Given the description of an element on the screen output the (x, y) to click on. 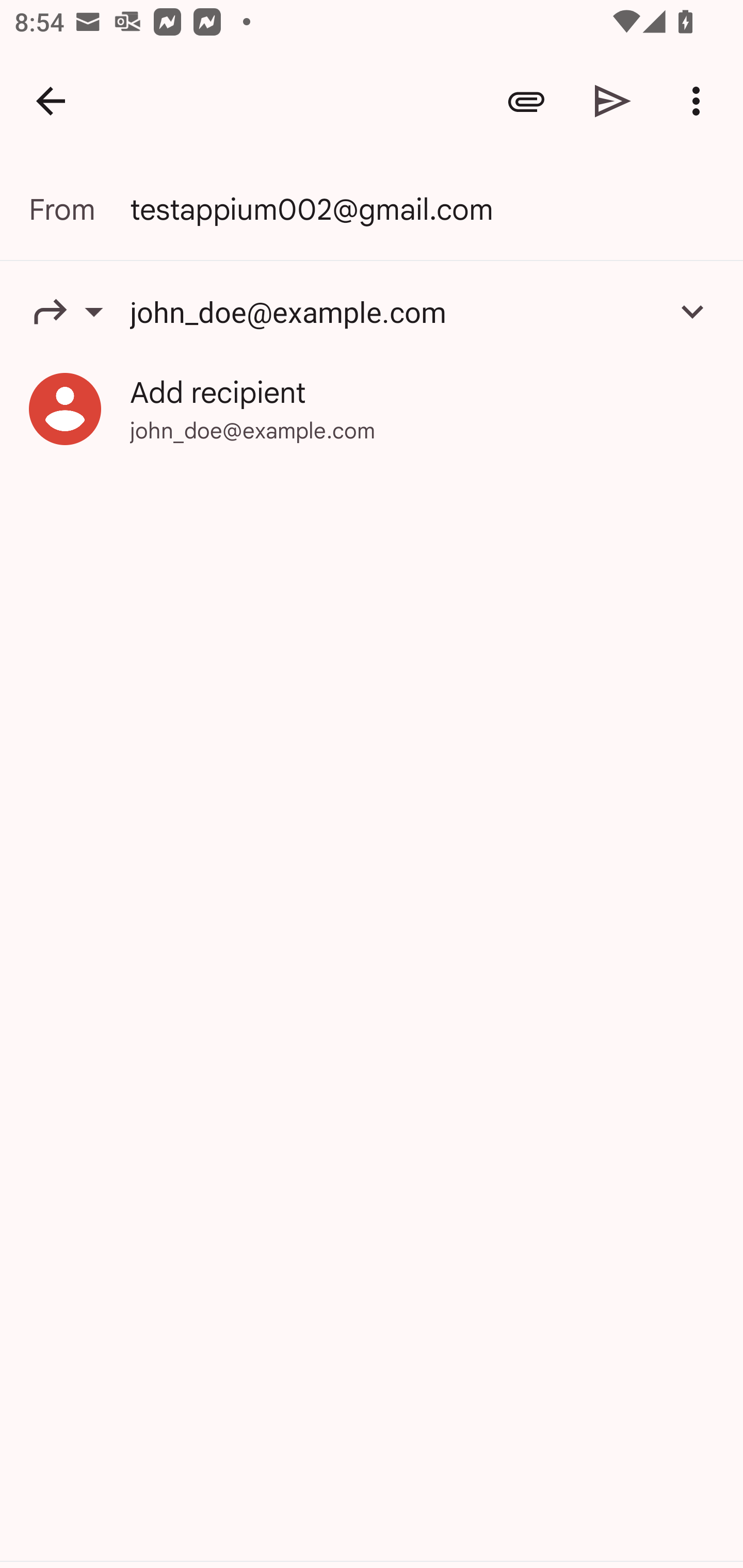
Navigate up (50, 101)
Attach file (525, 101)
Send (612, 101)
More options (699, 101)
From (79, 209)
Forward (79, 311)
Add Cc/Bcc (692, 311)
john_doe@example.com (393, 311)
Add recipient john_doe@example.com (371, 408)
